Given the description of an element on the screen output the (x, y) to click on. 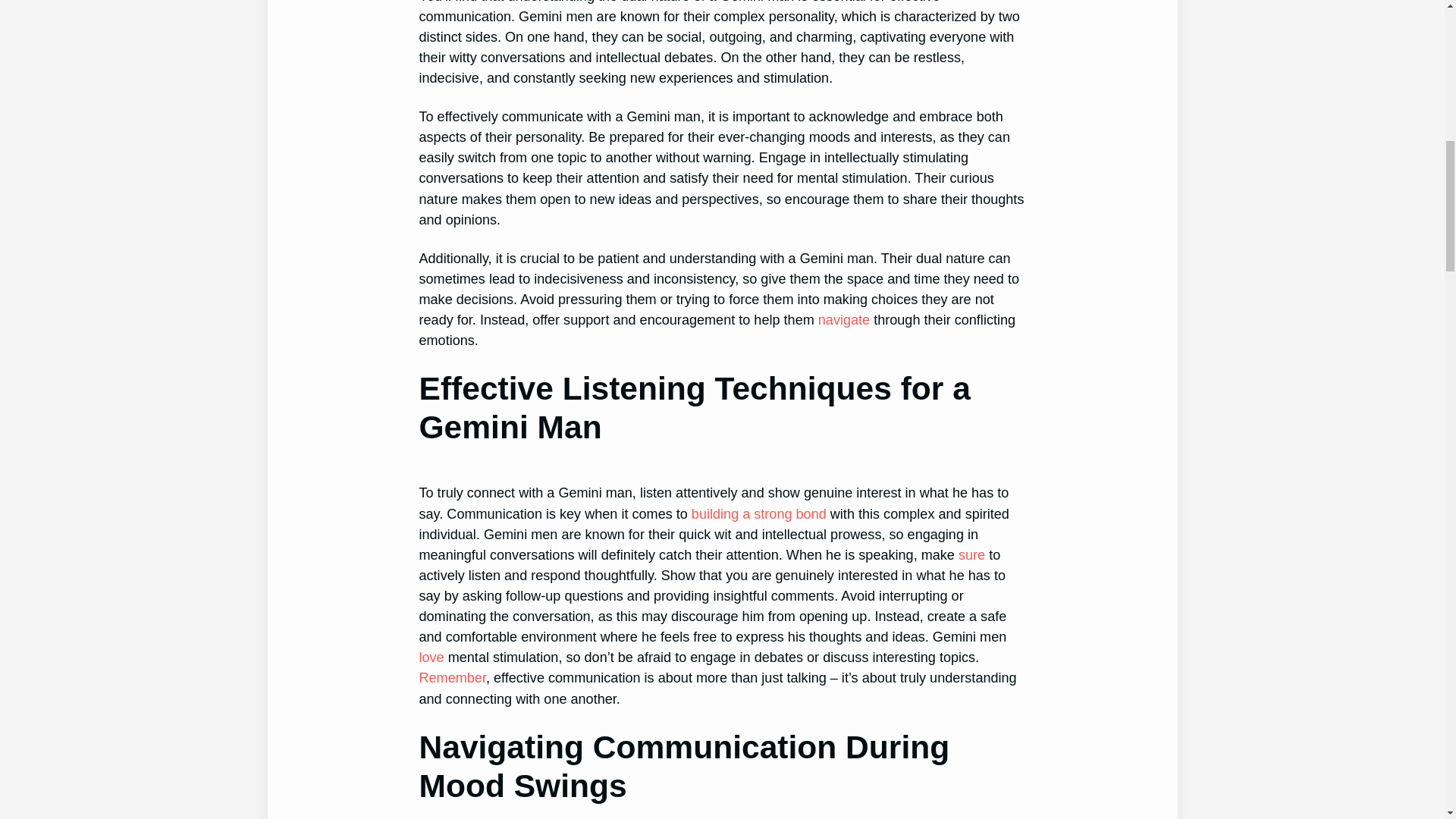
love (431, 657)
building a strong bond (759, 513)
sure (971, 554)
love (431, 657)
Remember (451, 677)
sure (971, 554)
navigate (843, 319)
building a strong bond (759, 513)
Remember (451, 677)
navigate (843, 319)
